Given the description of an element on the screen output the (x, y) to click on. 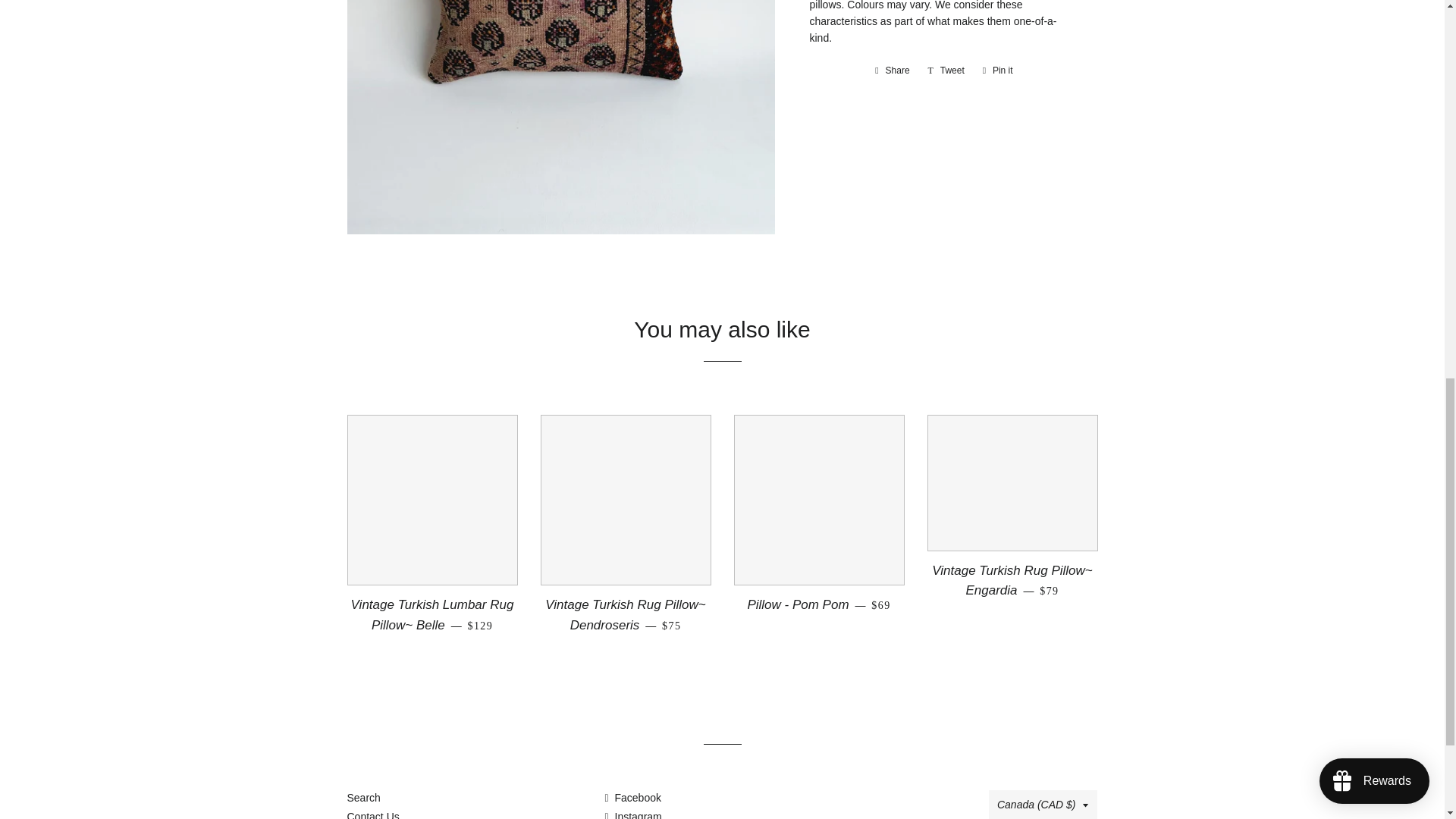
Tweet on Twitter (946, 70)
Pin on Pinterest (997, 70)
Antiquated Joys on Instagram (632, 814)
Share on Facebook (892, 70)
Antiquated Joys on Facebook (892, 70)
